Given the description of an element on the screen output the (x, y) to click on. 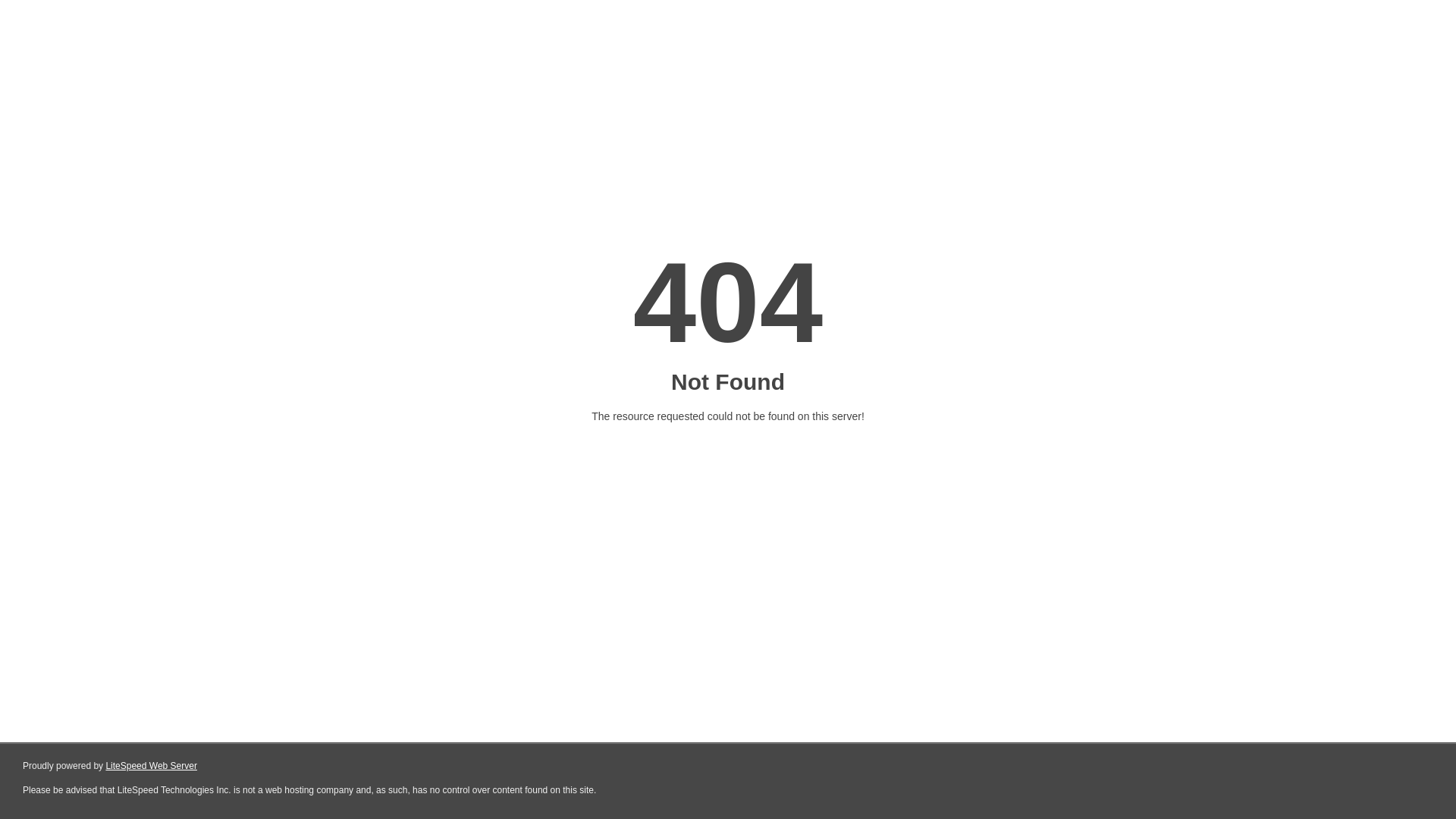
LiteSpeed Web Server Element type: text (151, 765)
